Given the description of an element on the screen output the (x, y) to click on. 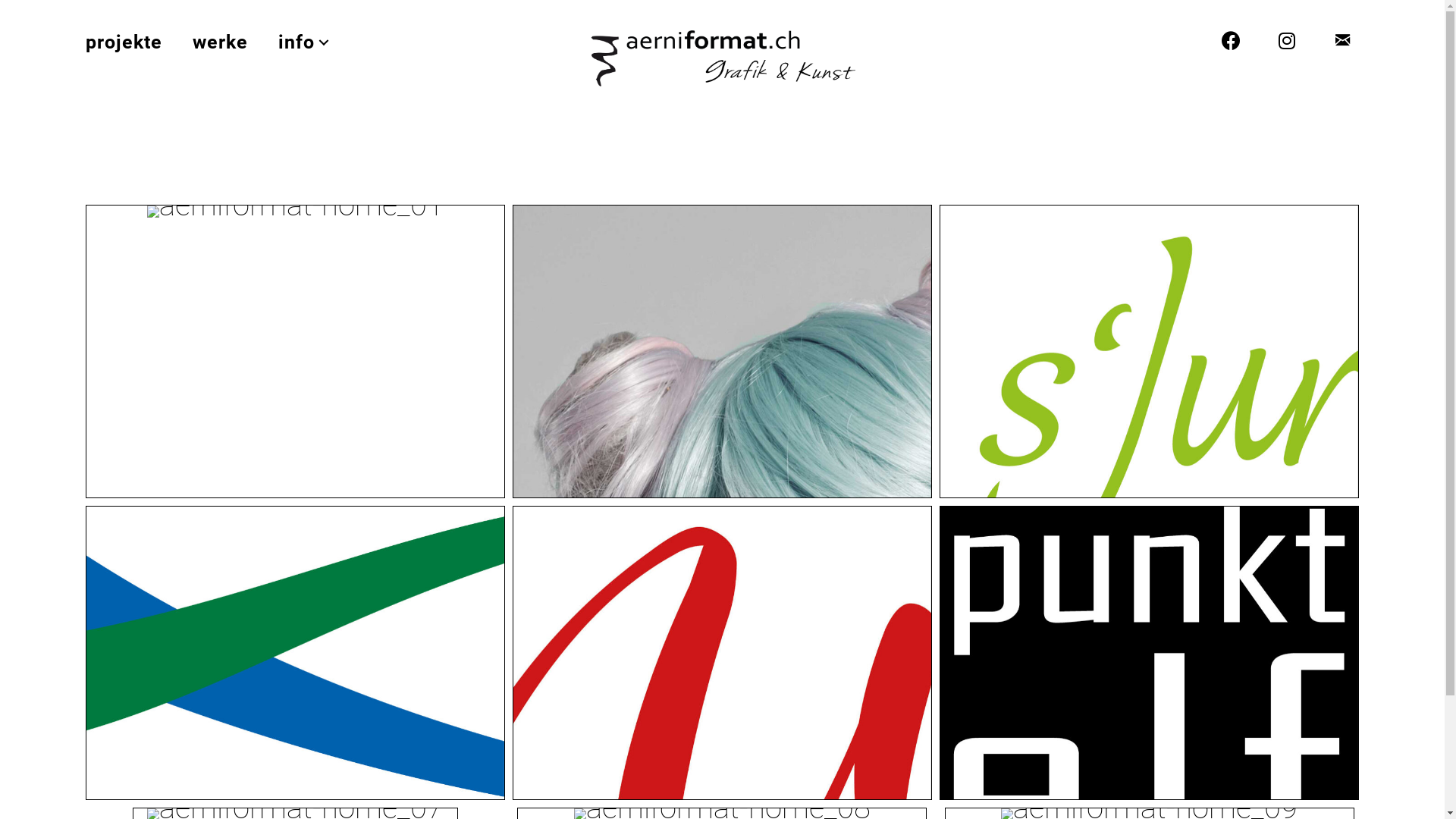
aerniformat-home_06 Element type: hover (1149, 652)
werke Element type: text (220, 42)
aerniformat-Logo-Def Element type: hover (722, 58)
aerniformat-home_03 Element type: hover (1149, 351)
aerniformat-home_04 Element type: hover (295, 652)
projekte Element type: text (123, 42)
aerniformat-home_01 Element type: hover (295, 211)
info Element type: text (304, 42)
aerniformat-home_02 Element type: hover (722, 351)
aerniformat-home_05 Element type: hover (722, 652)
